Given the description of an element on the screen output the (x, y) to click on. 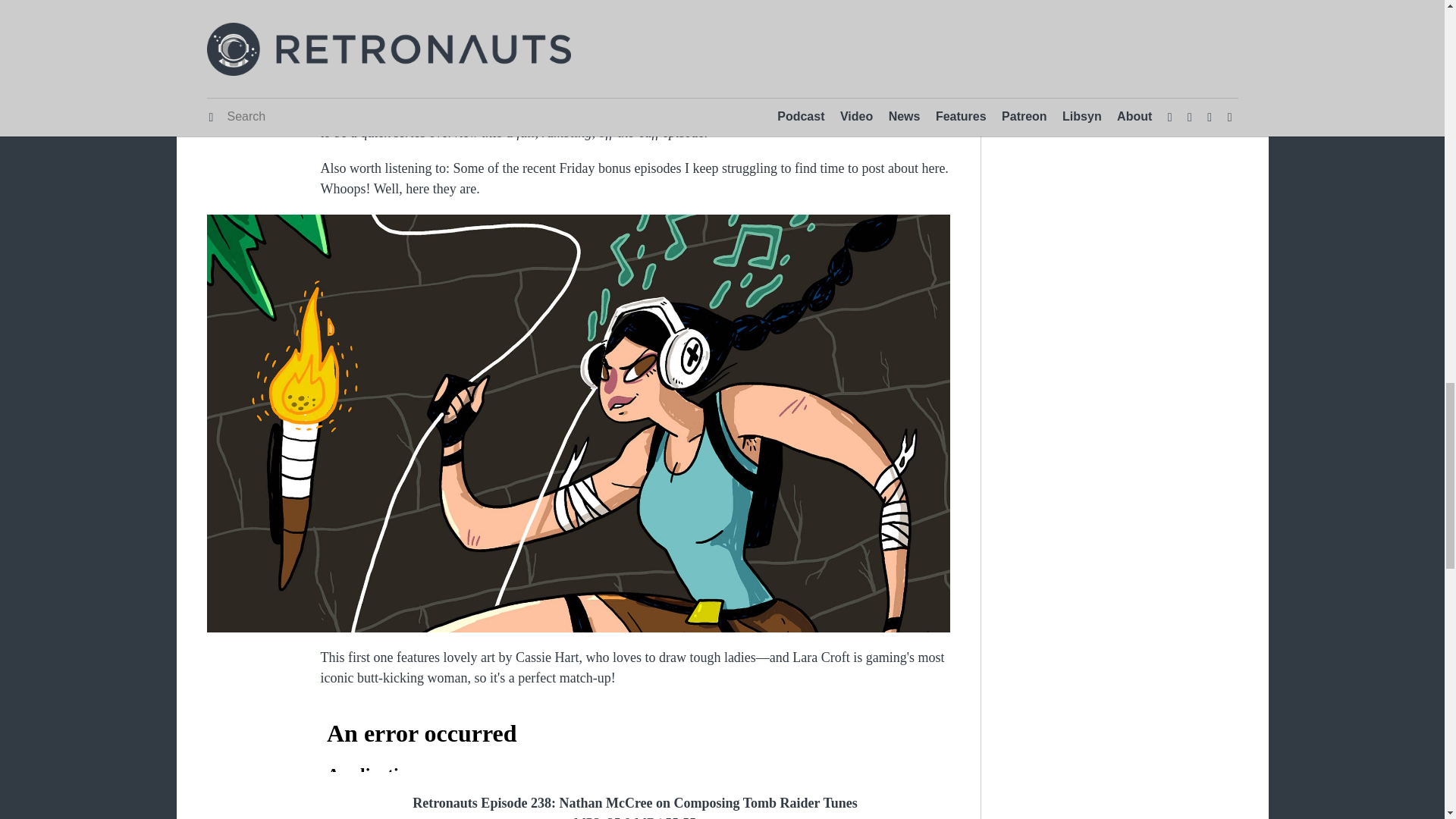
Direct download (499, 55)
Retronauts on iTunes (619, 55)
Retronauts on Libsyn (754, 55)
